Given the description of an element on the screen output the (x, y) to click on. 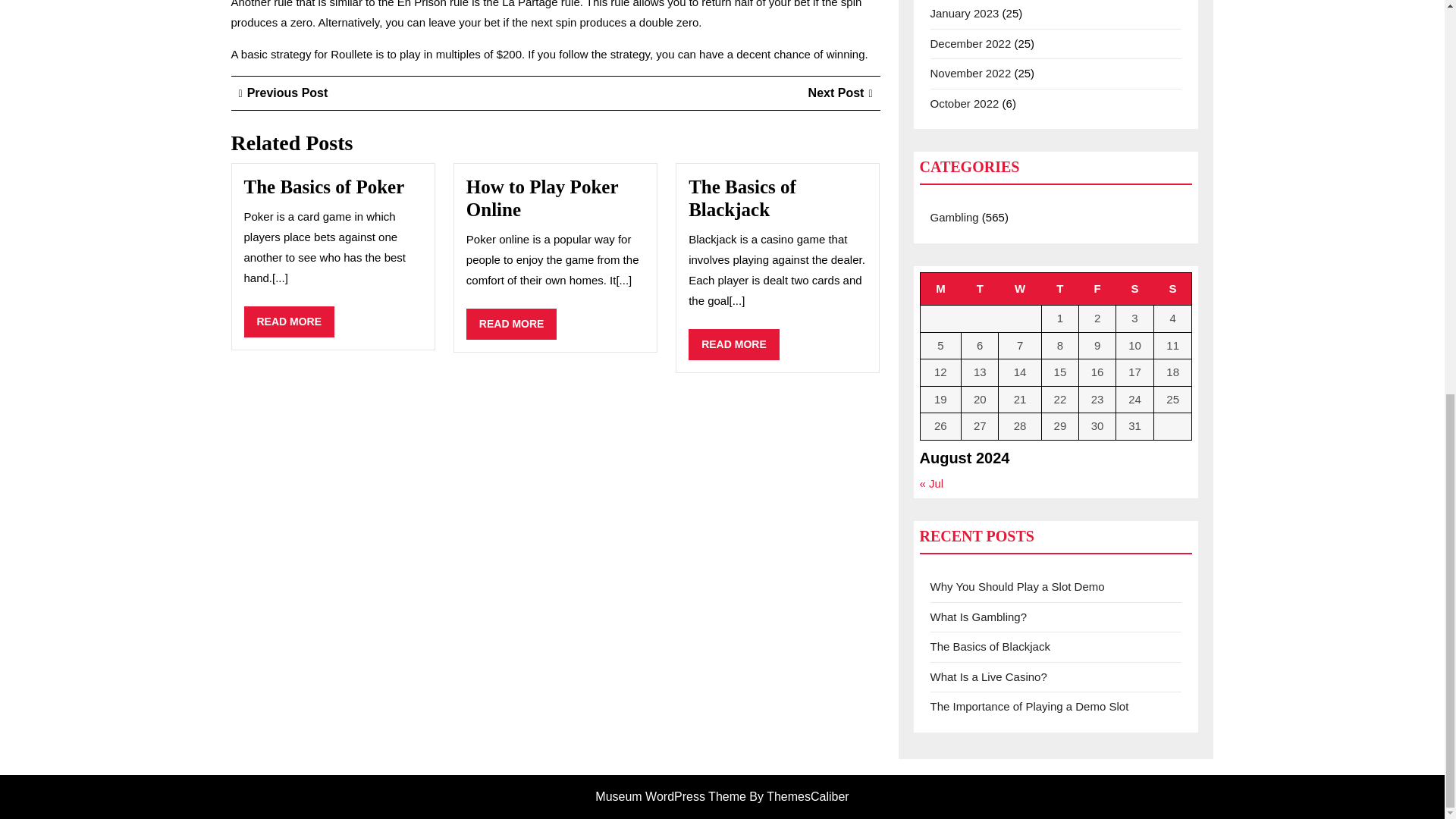
Friday (840, 92)
The Basics of Blackjack (1097, 288)
Thursday (733, 344)
Tuesday (742, 198)
How to Play Poker Online (1059, 288)
Monday (979, 288)
The Basics of Poker (511, 323)
